Given the description of an element on the screen output the (x, y) to click on. 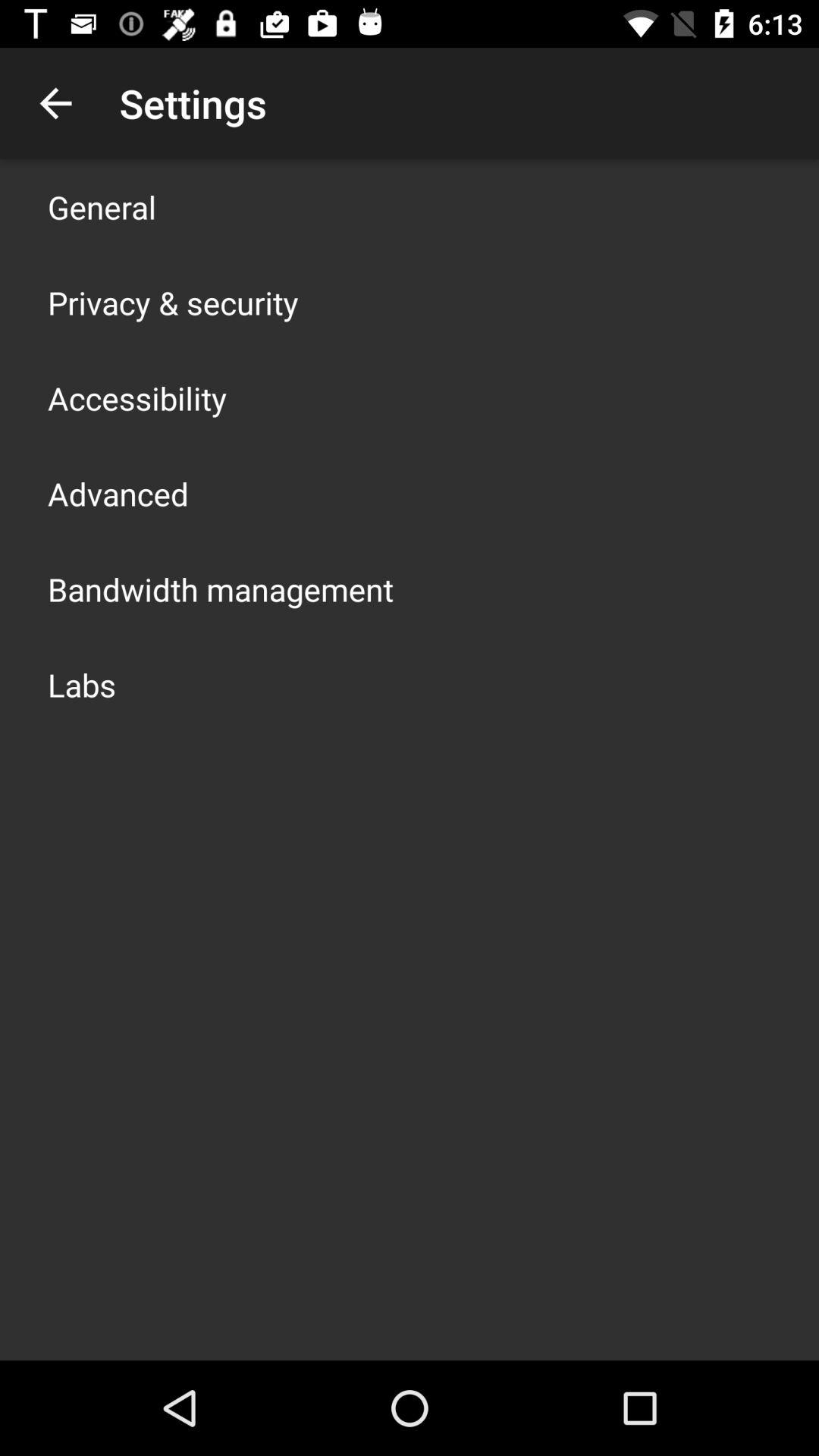
turn on general icon (101, 206)
